Given the description of an element on the screen output the (x, y) to click on. 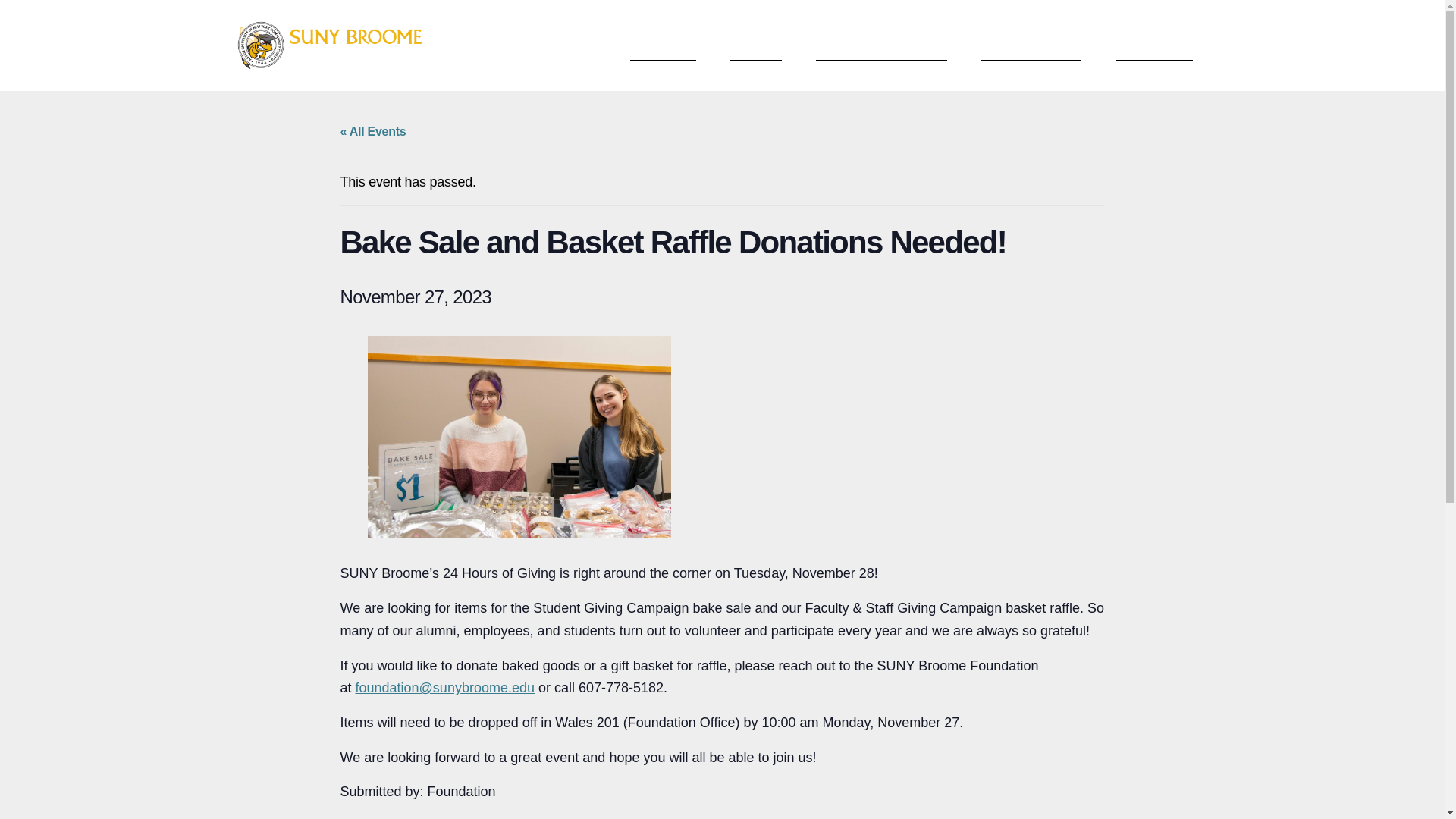
HIVEHQ (755, 44)
THE BUZZ (662, 44)
ADD EVENT (1153, 44)
SUNY BROOME (1031, 44)
EVENTS CALENDAR (880, 44)
